Given the description of an element on the screen output the (x, y) to click on. 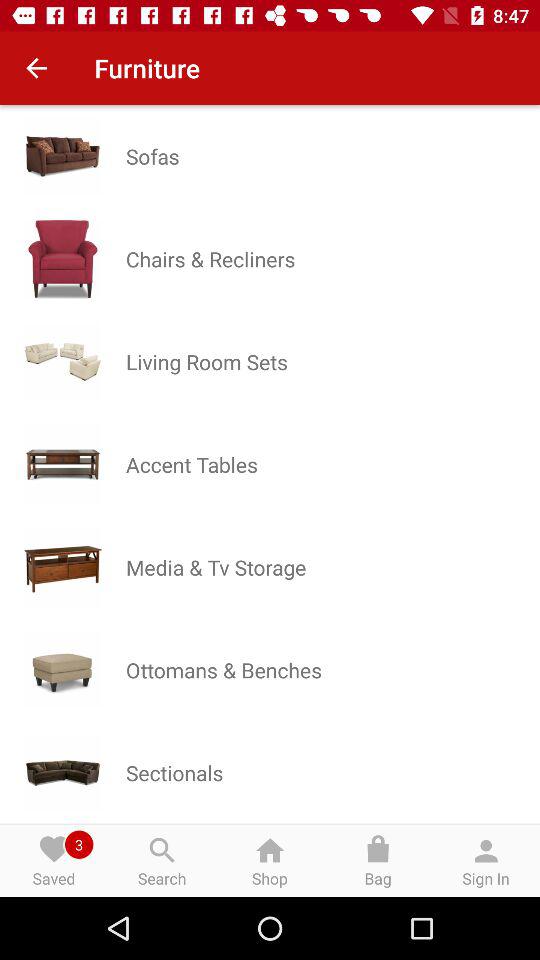
tap item next to the furniture (36, 68)
